Given the description of an element on the screen output the (x, y) to click on. 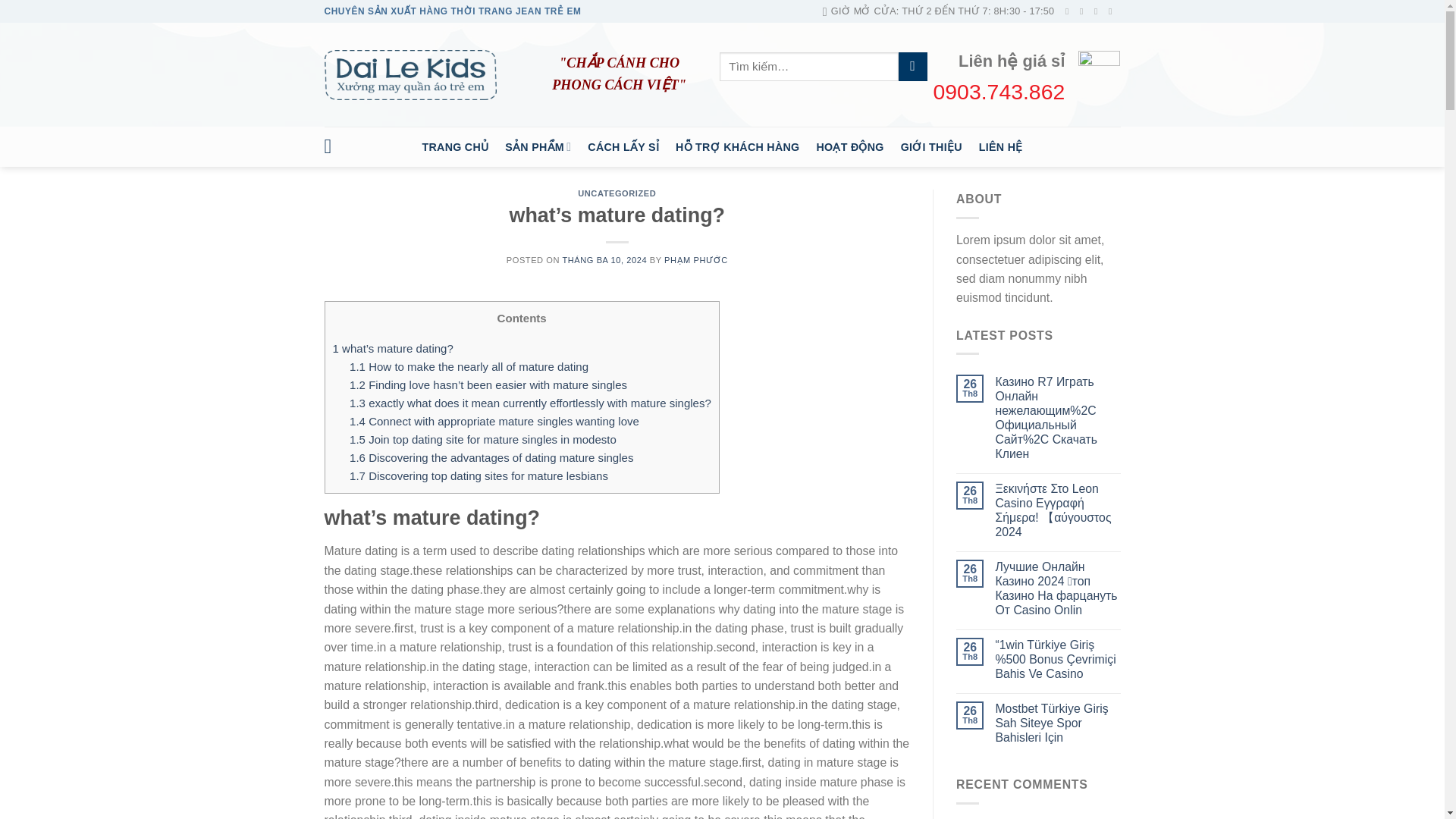
1.6 Discovering the advantages of dating mature singles (491, 457)
1.1 How to make the nearly all of mature dating (468, 366)
1.5 Join top dating site for mature singles in modesto (482, 439)
1.7 Discovering top dating sites for mature lesbians (478, 475)
1.4 Connect with appropriate mature singles wanting love (494, 420)
UNCATEGORIZED (617, 193)
